Given the description of an element on the screen output the (x, y) to click on. 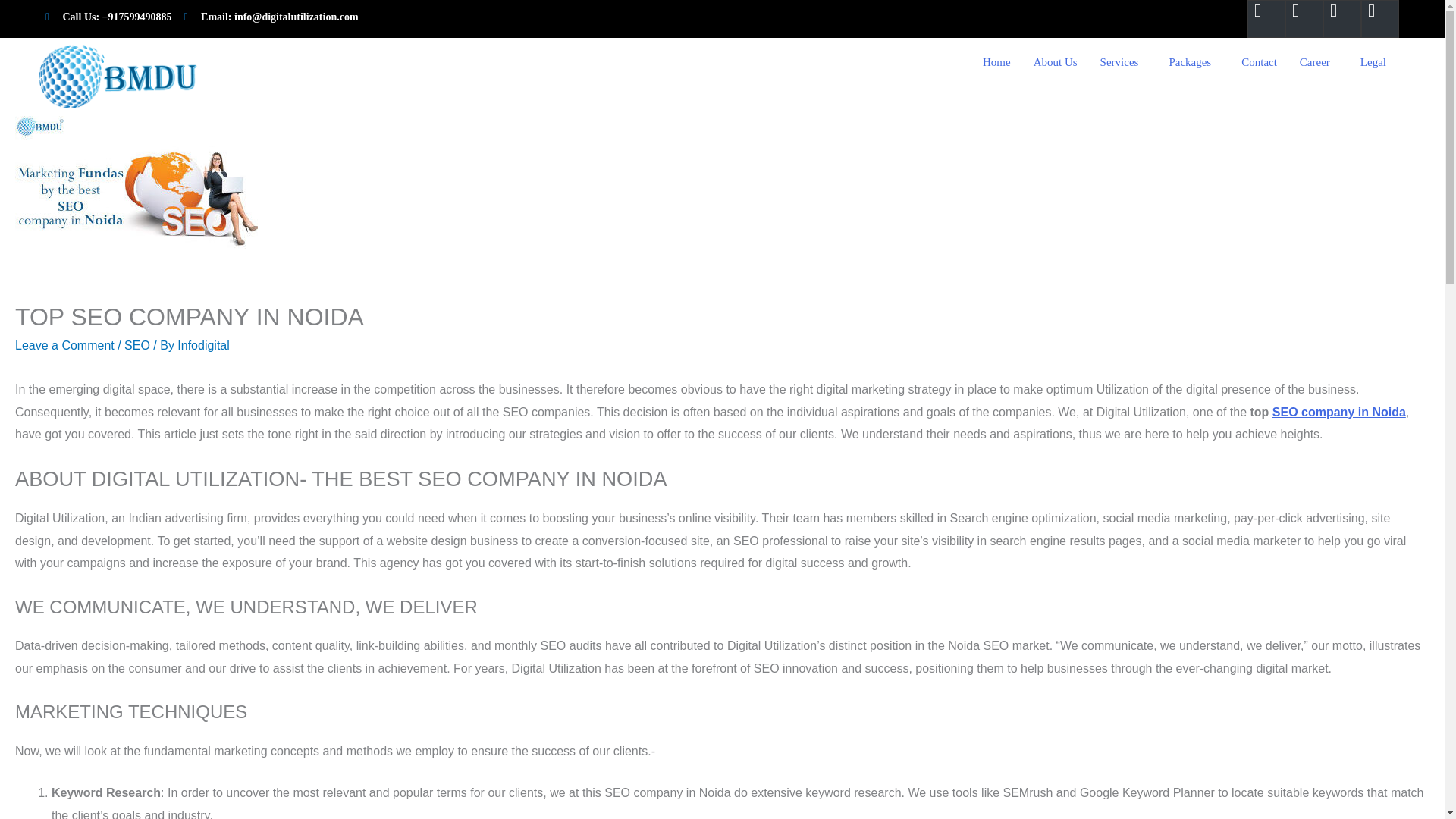
SEO company in Noida (1339, 411)
Legal (1377, 62)
Services (1123, 62)
Leave a Comment (64, 345)
View all posts by Infodigital (203, 345)
Home (996, 62)
Packages (1193, 62)
Career (1318, 62)
Infodigital (203, 345)
Contact (1259, 62)
SEO (136, 345)
About Us (1055, 62)
